Given the description of an element on the screen output the (x, y) to click on. 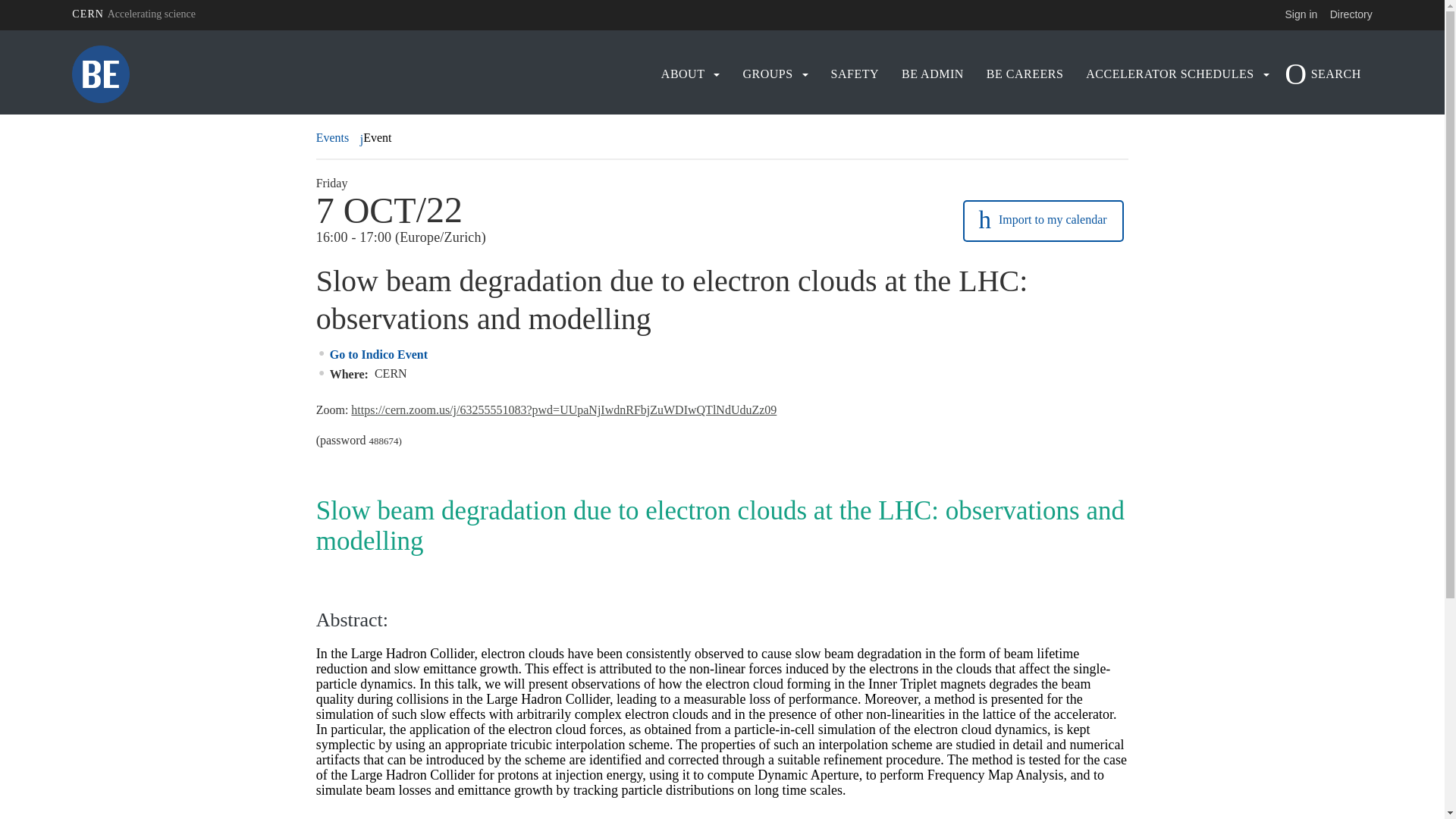
SEARCH Element type: text (1326, 74)
ABOUT Element type: text (683, 74)
Directory Element type: text (1351, 14)
CERN Accelerating science Element type: text (133, 14)
Event Element type: text (377, 137)
BE ADMIN Element type: text (932, 74)
Import to my calendar Element type: text (1043, 220)
BE CAREERS Element type: text (1024, 74)
Home Element type: hover (230, 74)
Go to Indico Event Element type: text (378, 354)
Sign in Element type: text (1301, 14)
SAFETY Element type: text (854, 74)
Events Element type: text (334, 137)
ACCELERATOR SCHEDULES Element type: text (1169, 74)
Skip to main content Element type: text (0, 30)
GROUPS Element type: text (767, 74)
